Given the description of an element on the screen output the (x, y) to click on. 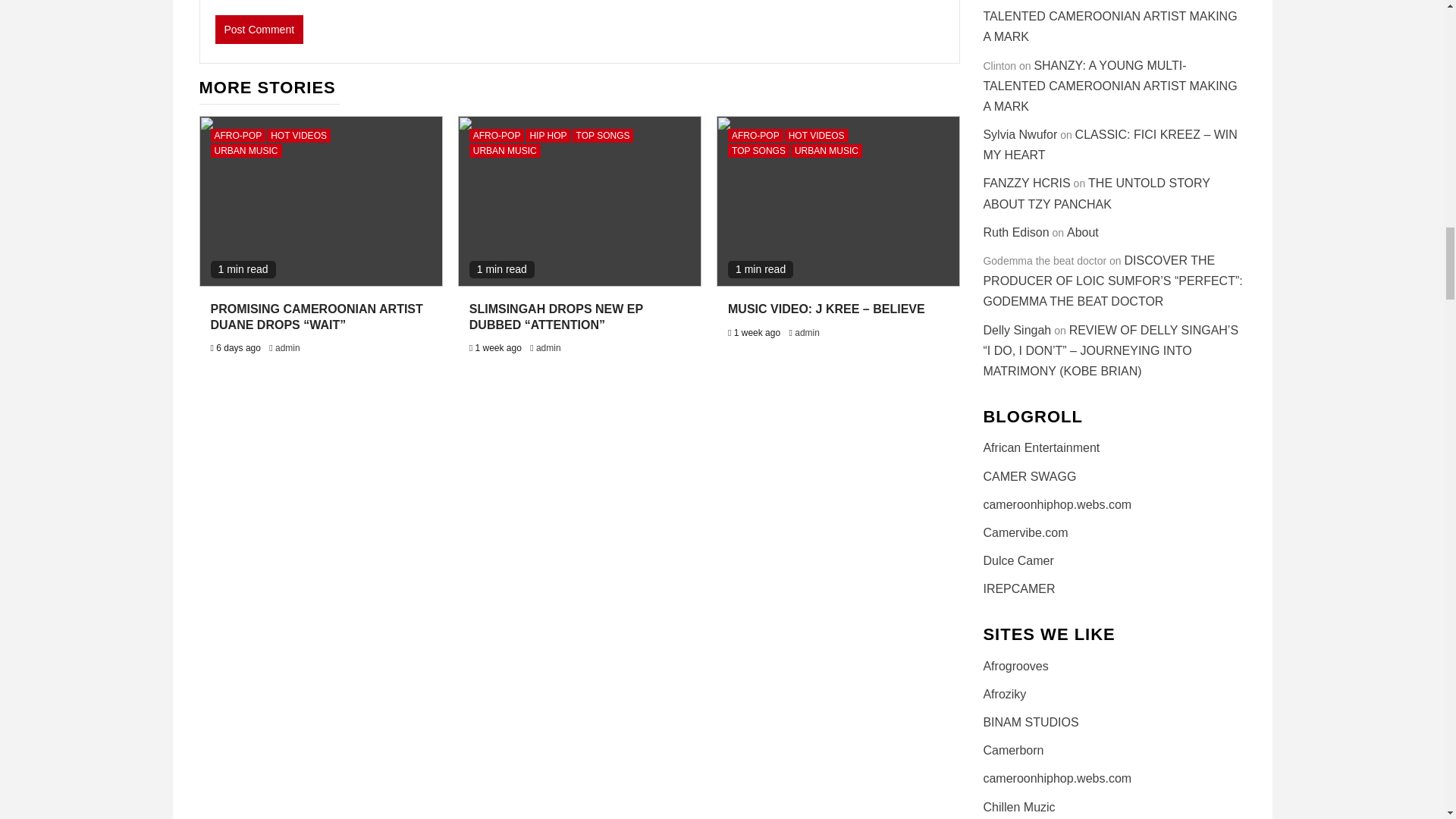
URBAN MUSIC (246, 151)
admin (287, 347)
Profiles Cameroonians and their works (1018, 588)
Entertainment website (1004, 694)
cameroonian social network (1012, 749)
AFRO-POP (238, 135)
HOT VIDEOS (298, 135)
Post Comment (259, 29)
Chillen Muzic studios (1018, 807)
Post Comment (259, 29)
